Given the description of an element on the screen output the (x, y) to click on. 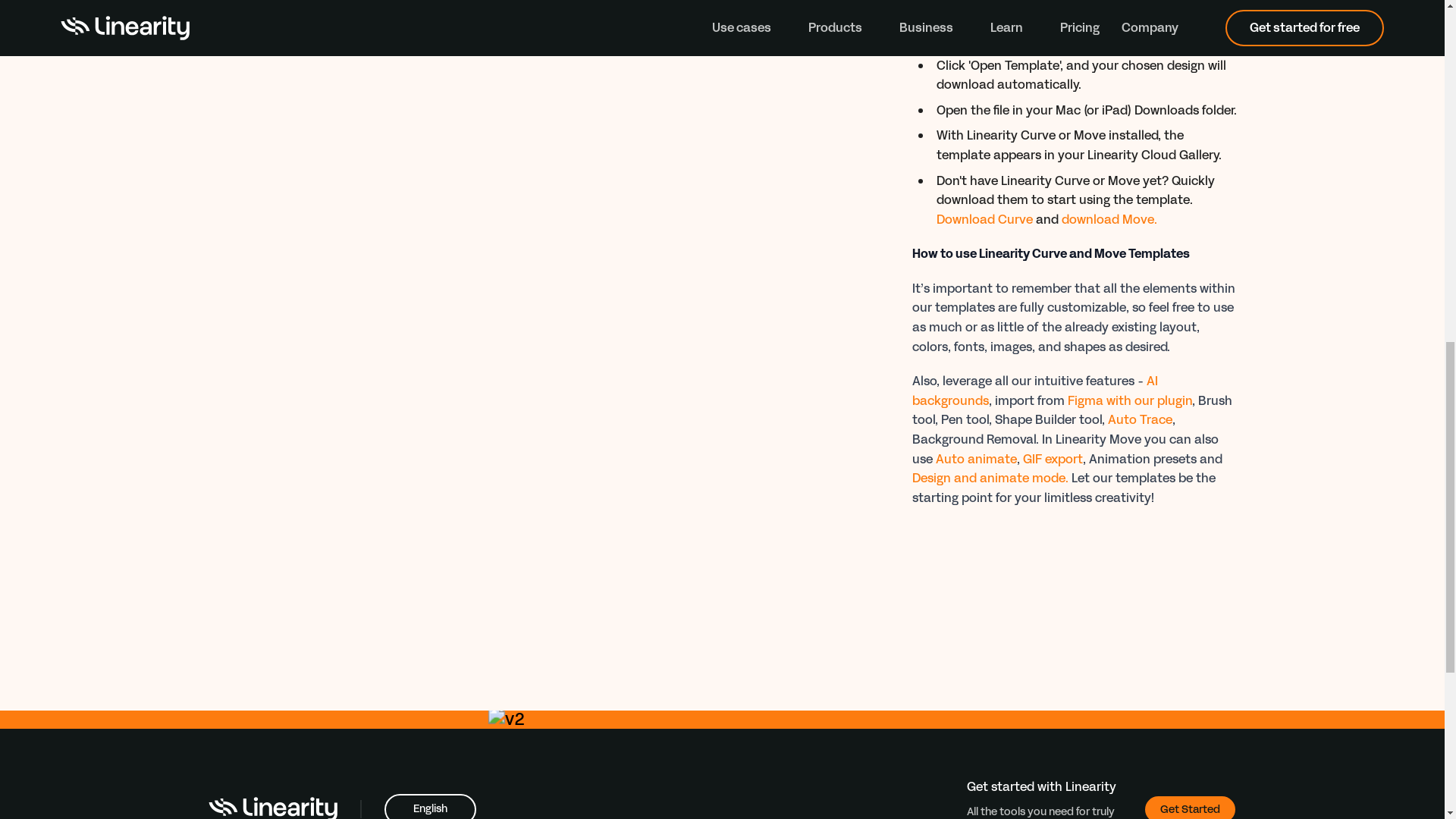
Get Started (1189, 806)
GIF export (1051, 458)
Auto Trace (1139, 419)
Figma with our plugin (1129, 400)
Download Curve (984, 219)
Design and animate mode. (989, 477)
AI backgrounds (1034, 390)
English (430, 806)
English (430, 806)
download Move. (1109, 219)
